Given the description of an element on the screen output the (x, y) to click on. 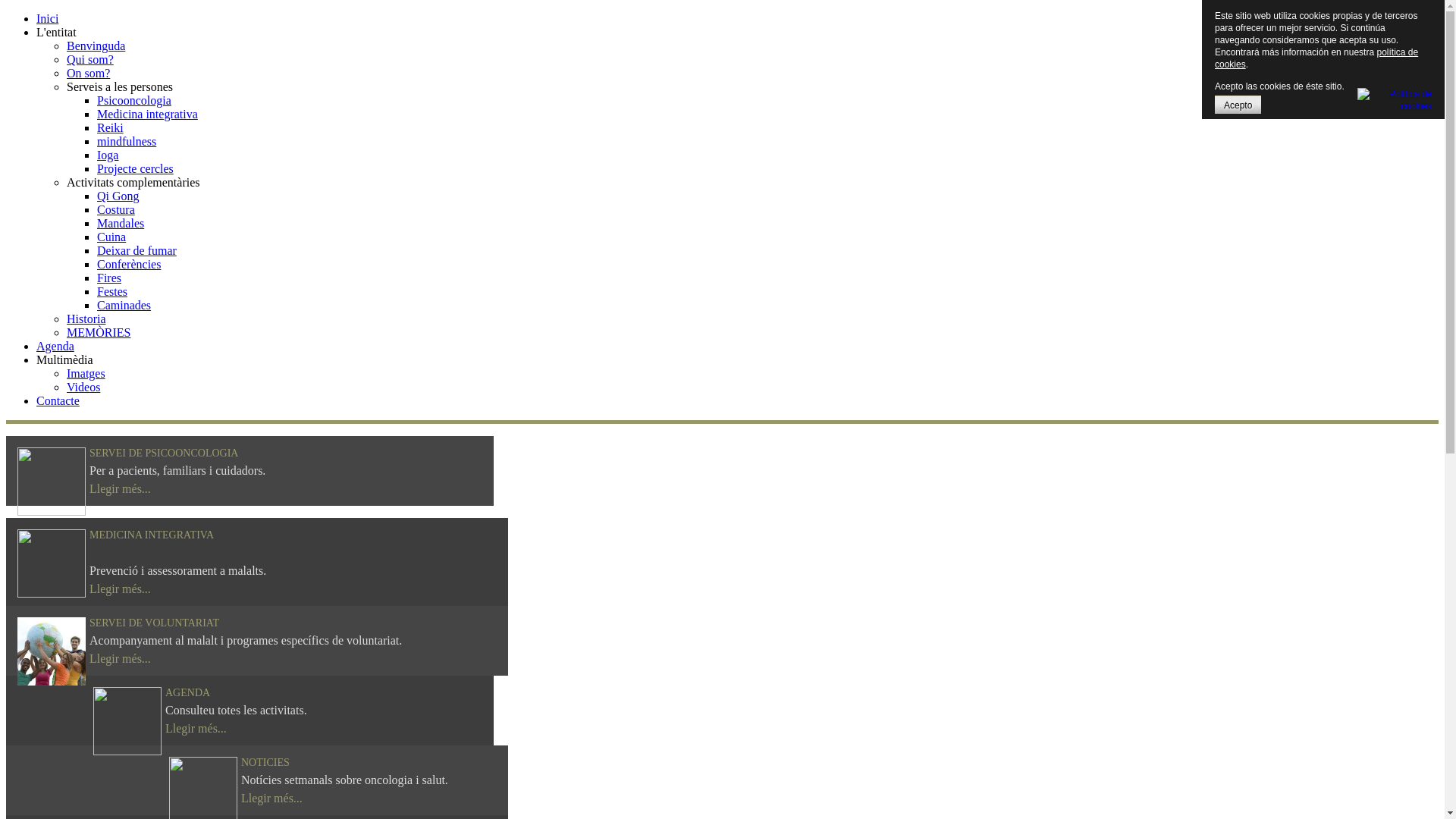
Costura Element type: text (115, 209)
Ioga Element type: text (107, 154)
Reiki Element type: text (110, 127)
Projecte cercles Element type: text (135, 168)
Imatges Element type: text (85, 373)
Cuina Element type: text (111, 236)
Contacte Element type: text (57, 400)
Mandales Element type: text (120, 222)
Qi Gong Element type: text (118, 195)
Festes Element type: text (112, 291)
Inici Element type: text (47, 18)
Videos Element type: text (83, 386)
mindfulness Element type: text (126, 140)
Benvinguda Element type: text (95, 45)
L'entitat Element type: text (56, 31)
On som? Element type: text (87, 72)
Psicooncologia Element type: text (134, 100)
Historia Element type: text (86, 318)
Qui som? Element type: text (89, 59)
Deixar de fumar Element type: text (136, 250)
Acepto Element type: text (1237, 104)
Medicina integrativa Element type: text (147, 113)
Agenda Element type: text (55, 345)
Caminades Element type: text (123, 304)
Serveis a les persones Element type: text (119, 86)
Fires Element type: text (109, 277)
